Given the description of an element on the screen output the (x, y) to click on. 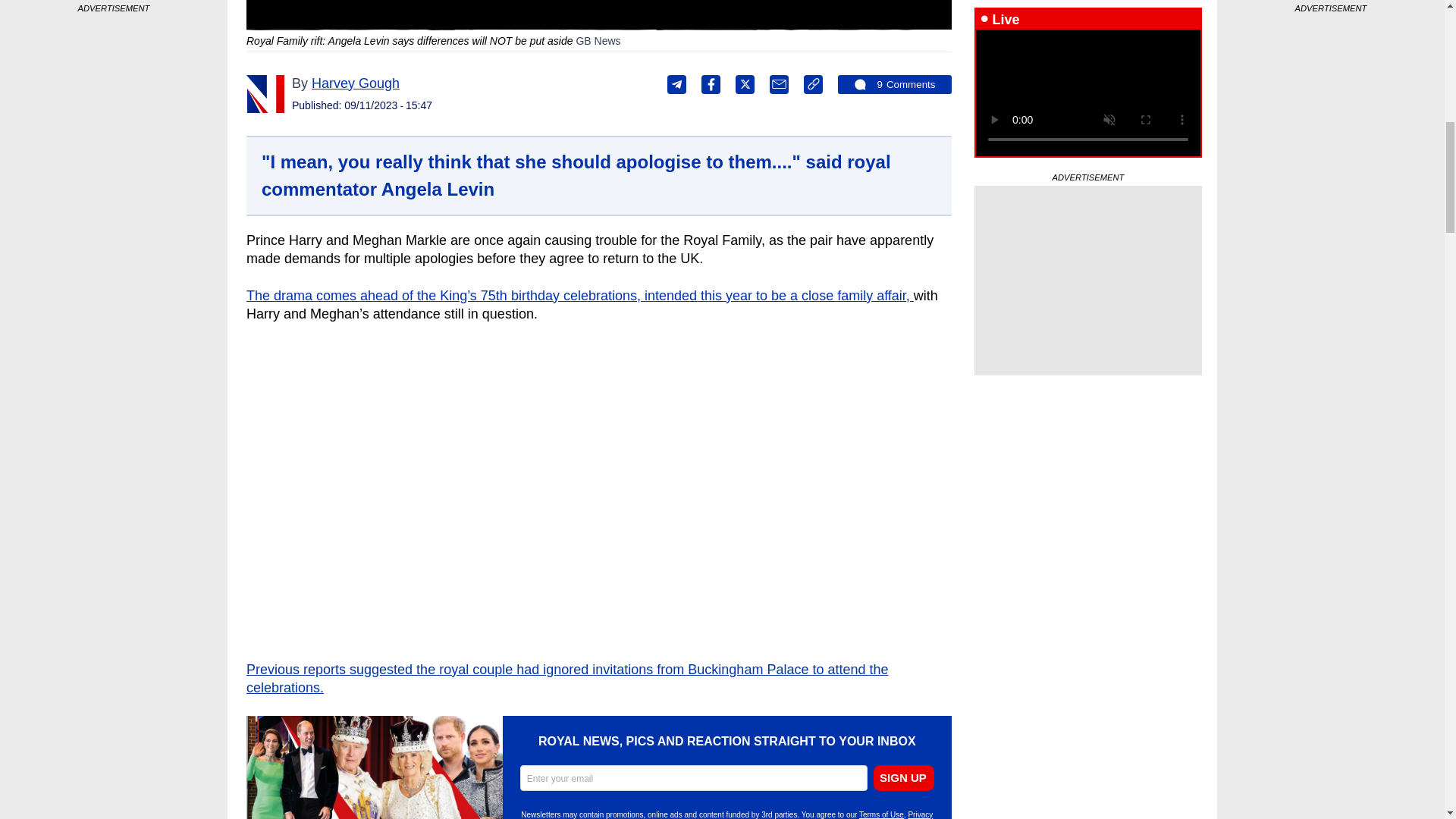
Harvey Gough (264, 94)
Harvey Gough (354, 83)
Copy this link to clipboard (812, 84)
